Given the description of an element on the screen output the (x, y) to click on. 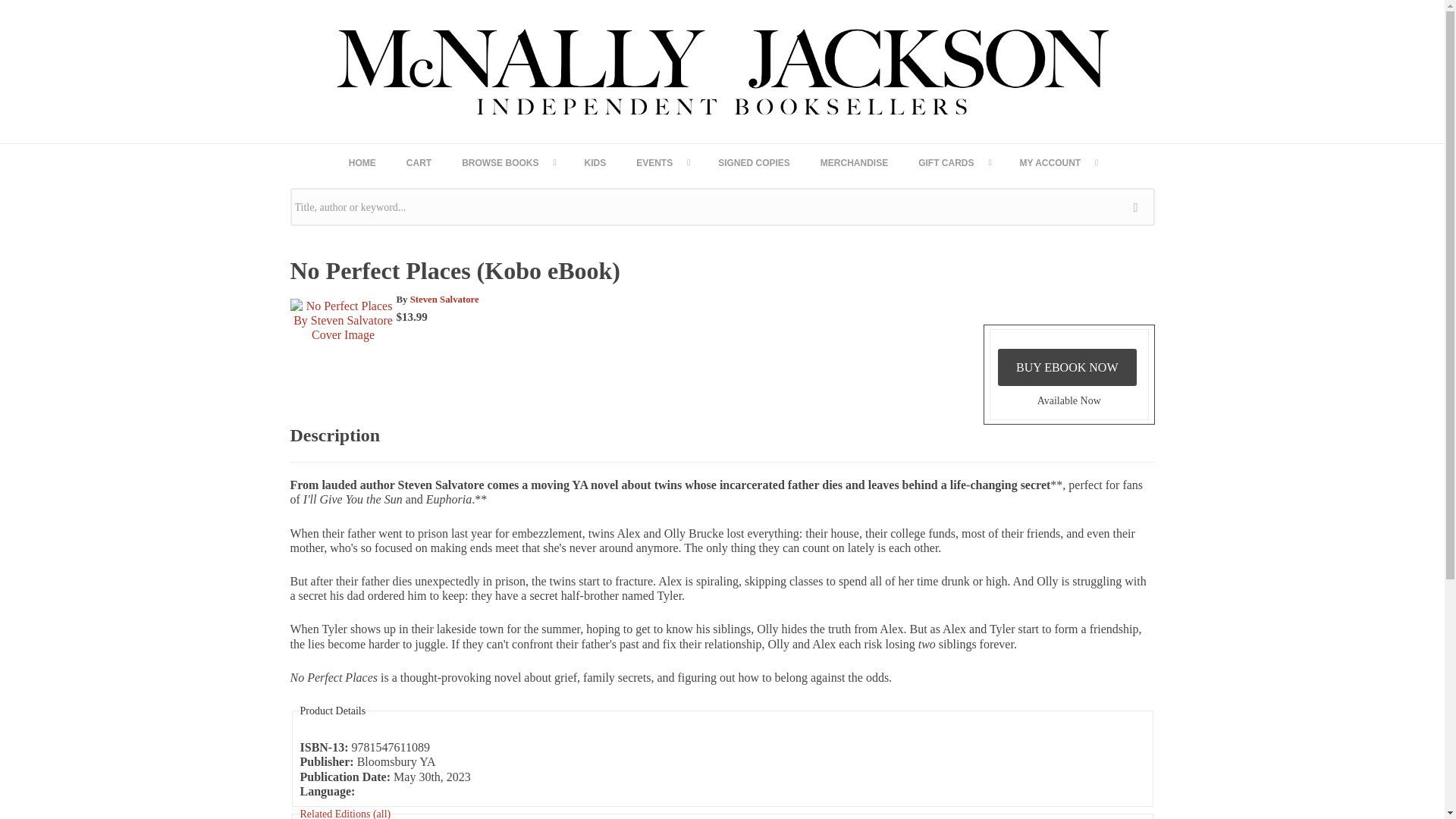
MY ACCOUNT (1058, 162)
Buy eBook Now (1067, 366)
EVENTS (662, 162)
GIFT CARDS (953, 162)
Buy eBook Now (1067, 366)
Steven Salvatore (444, 299)
MERCHANDISE (853, 162)
Title, author or keyword... (721, 207)
CART (418, 162)
HOME (362, 162)
BROWSE BOOKS (507, 162)
SIGNED COPIES (754, 162)
KIDS (595, 162)
